Given the description of an element on the screen output the (x, y) to click on. 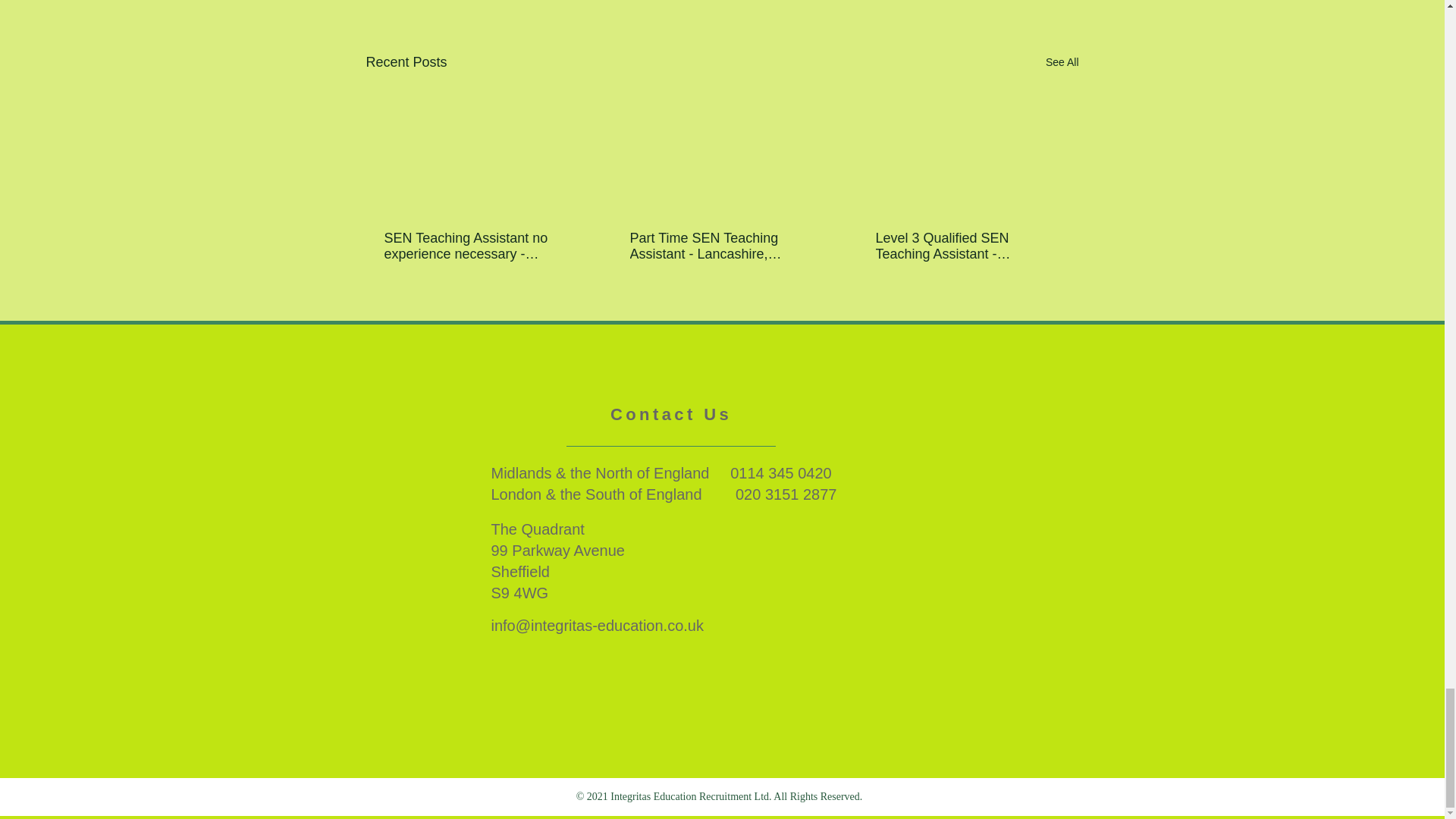
020 3151 2877  (788, 494)
0114 345 0420 (780, 473)
See All (1061, 62)
